Given the description of an element on the screen output the (x, y) to click on. 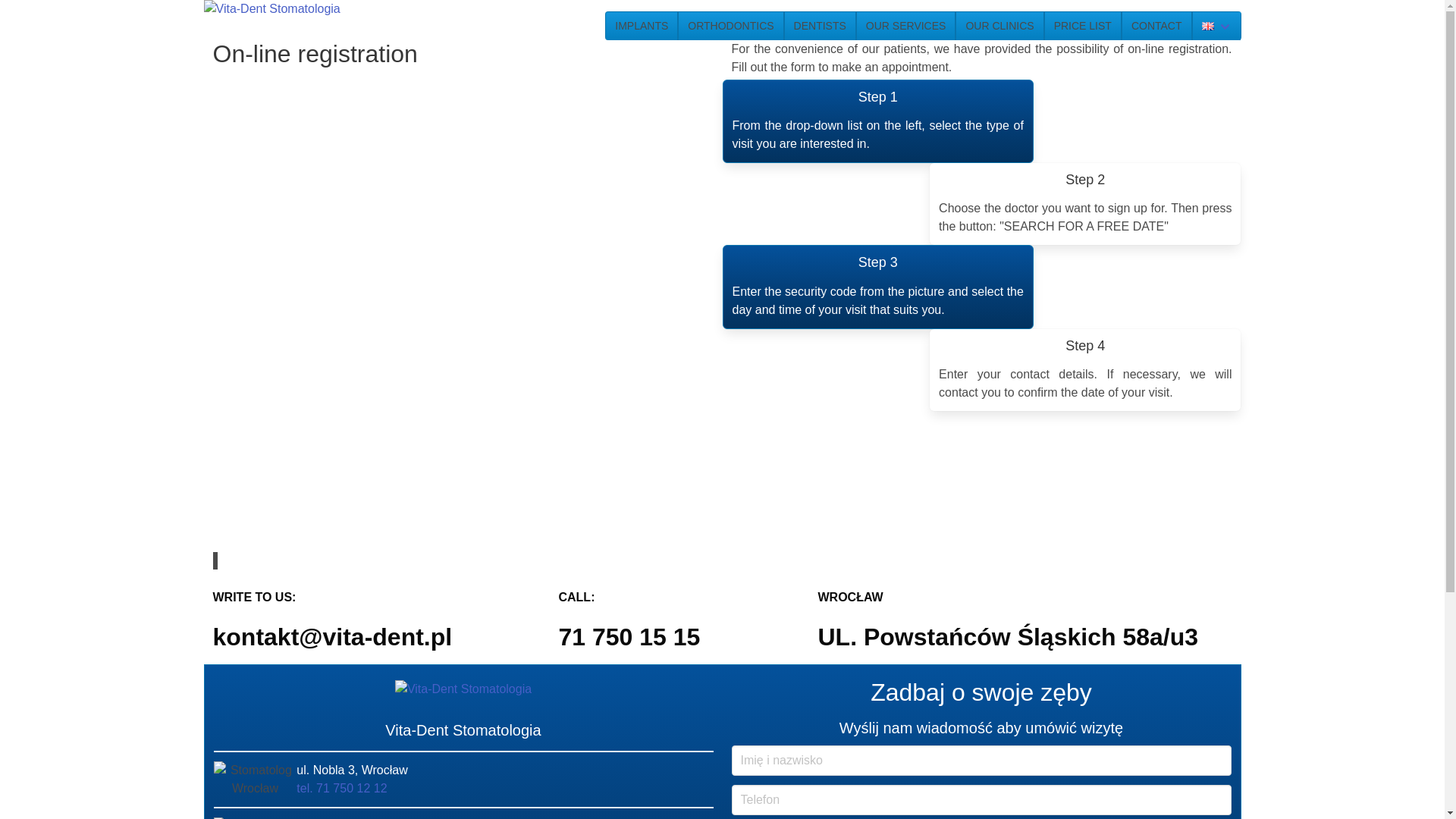
DENTISTS (820, 25)
OUR SERVICES (906, 25)
71 750 15 15 (628, 636)
PRICE LIST (1082, 25)
ORTHODONTICS (730, 25)
tel. 71 750 12 12 (342, 788)
IMPLANTS (641, 25)
OUR CLINICS (999, 25)
CONTACT (1156, 25)
